Given the description of an element on the screen output the (x, y) to click on. 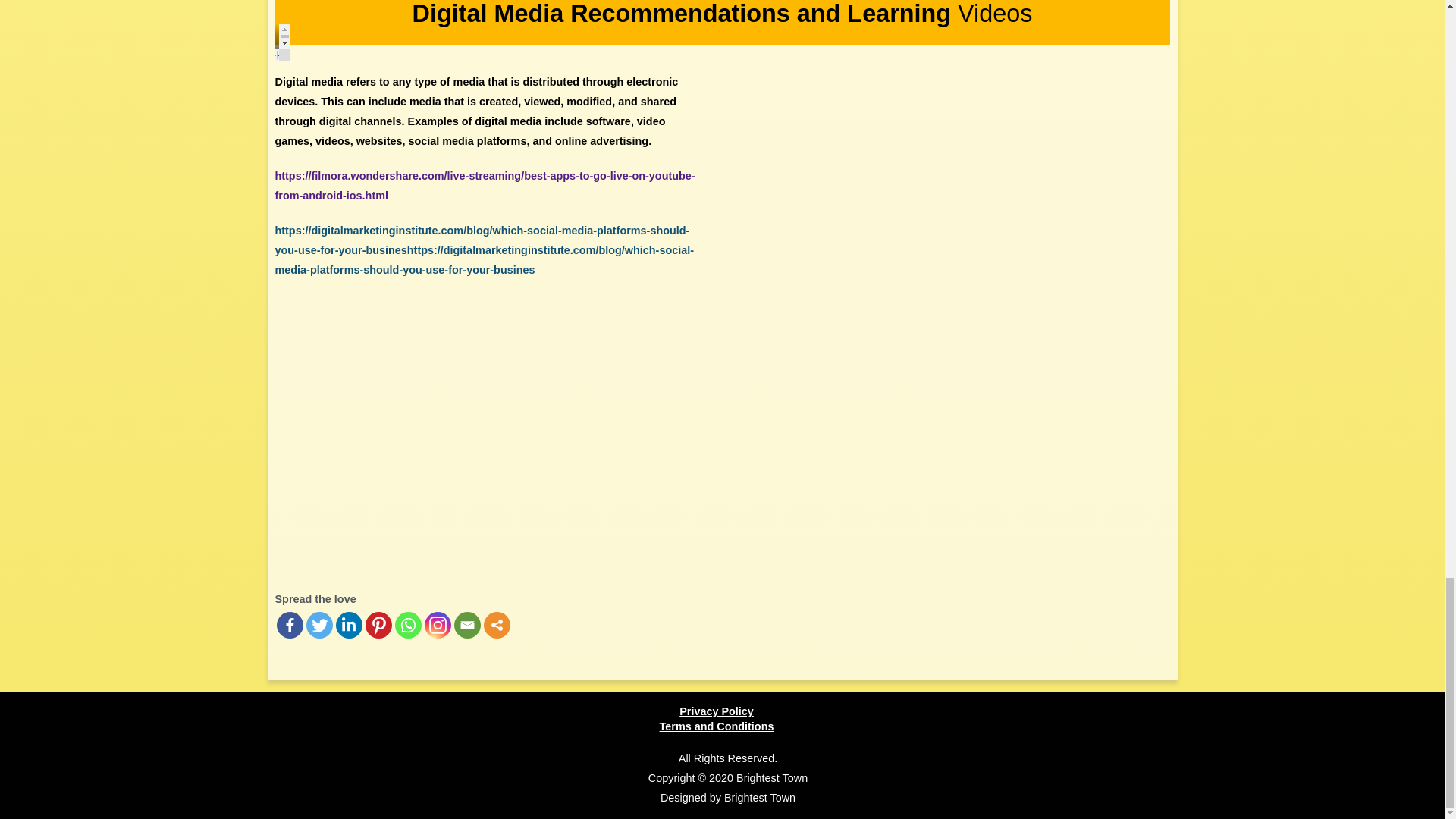
Linkedin (347, 624)
Twitter (319, 624)
Terms and Conditions (716, 726)
Instagram (438, 624)
Pinterest (378, 624)
Whatsapp (407, 624)
Facebook (289, 624)
Privacy Policy (716, 711)
Email (466, 624)
More (497, 624)
